Given the description of an element on the screen output the (x, y) to click on. 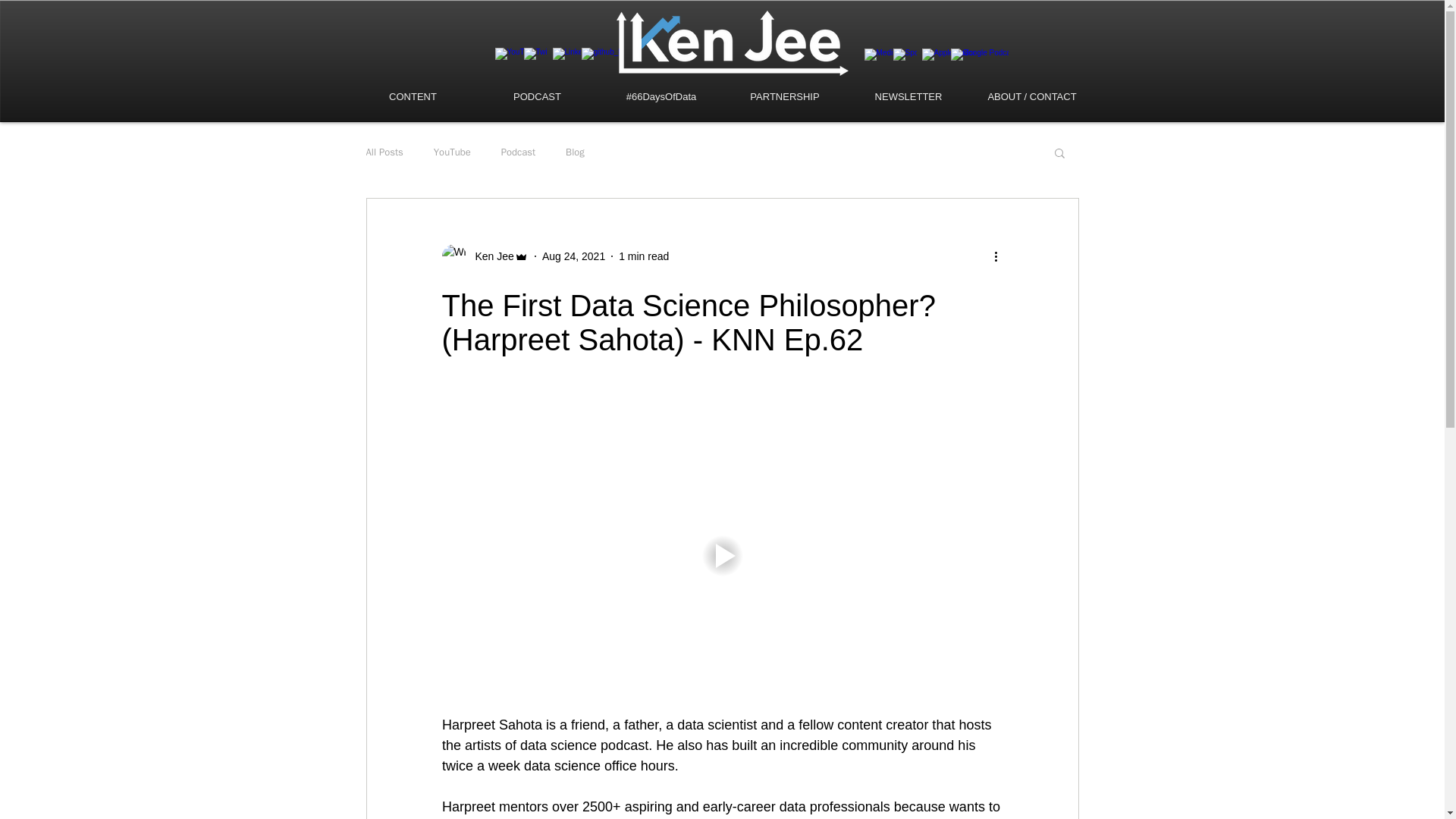
CONTENT (412, 96)
Aug 24, 2021 (573, 256)
Podcast (517, 151)
YouTube (451, 151)
All Posts (384, 151)
PARTNERSHIP (785, 96)
PODCAST (536, 96)
NEWSLETTER (907, 96)
1 min read (643, 256)
Blog (575, 151)
